Given the description of an element on the screen output the (x, y) to click on. 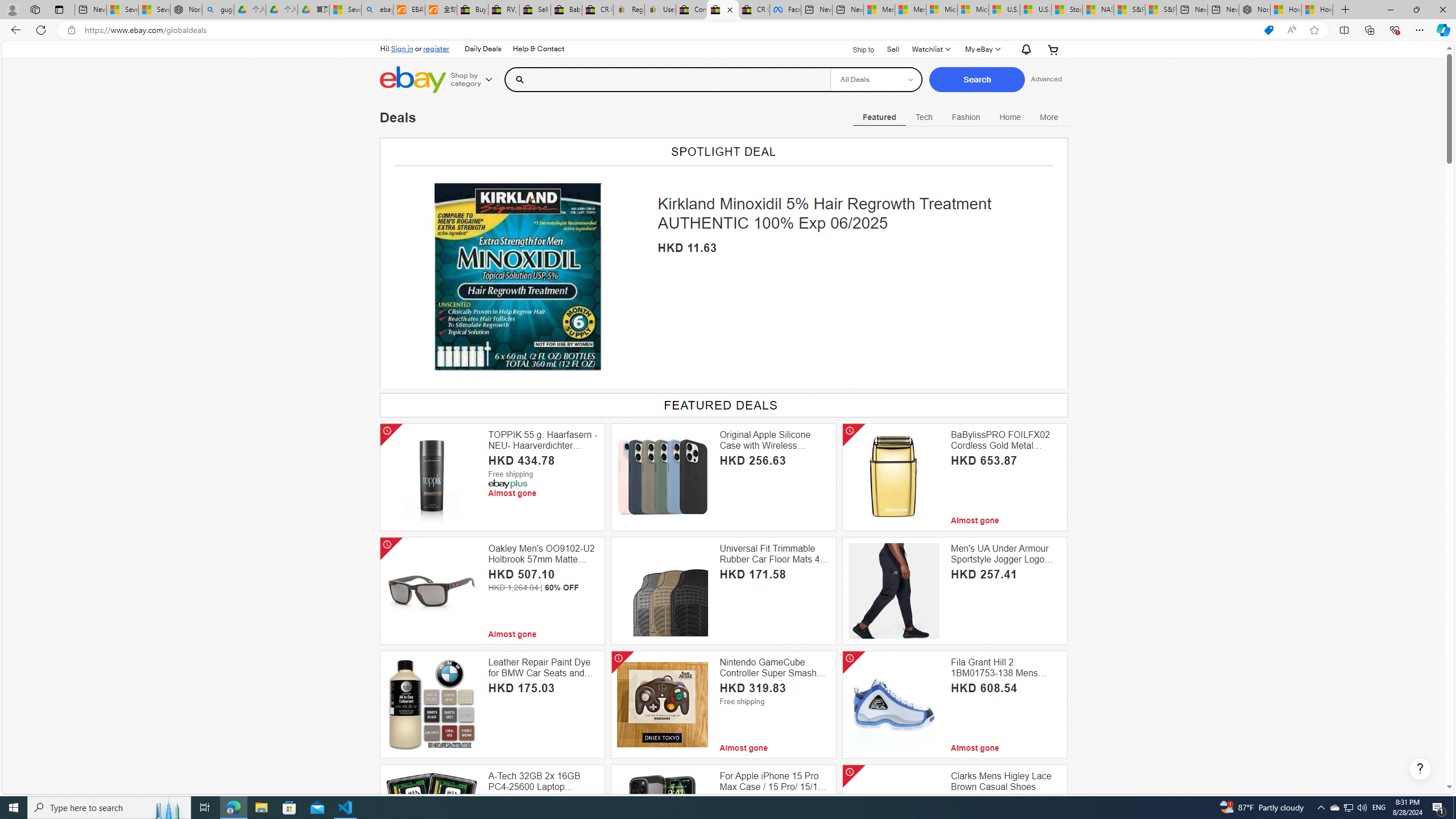
User Privacy Notice | eBay (660, 9)
Help, opens dialogs (1420, 768)
App bar (728, 29)
Help & Contact (537, 49)
Select a category for search (875, 78)
Daily Deals (483, 49)
Home (1010, 116)
Oakley Men's OO9102-U2 Holbrook 57mm Matte Black Sunglasses (543, 553)
View site information (70, 29)
